Given the description of an element on the screen output the (x, y) to click on. 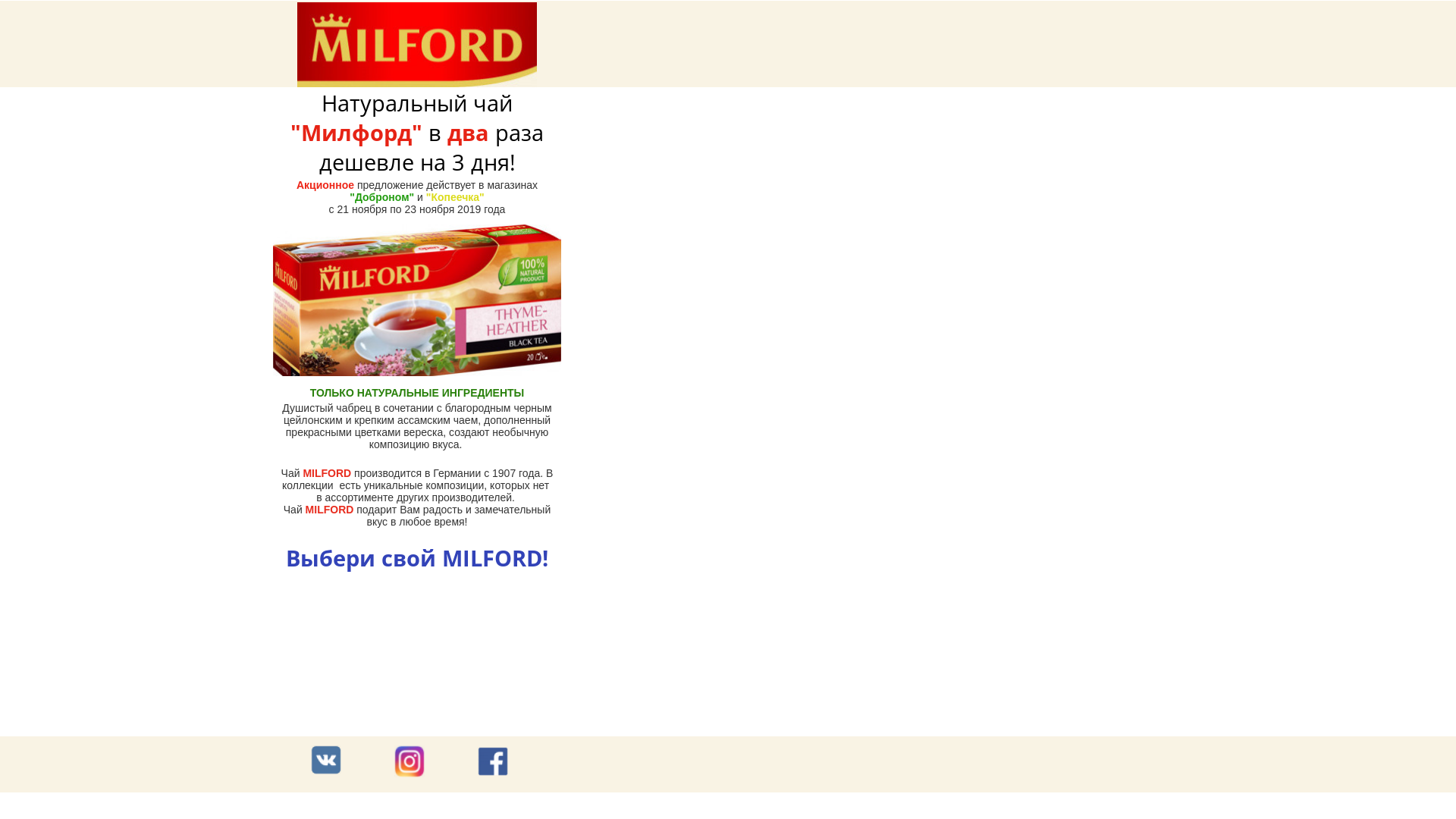
gallery/logomilford Element type: hover (416, 44)
gallery/vk Element type: hover (325, 759)
gallery/fb Element type: hover (492, 760)
gallery/ig Element type: hover (409, 761)
